Given the description of an element on the screen output the (x, y) to click on. 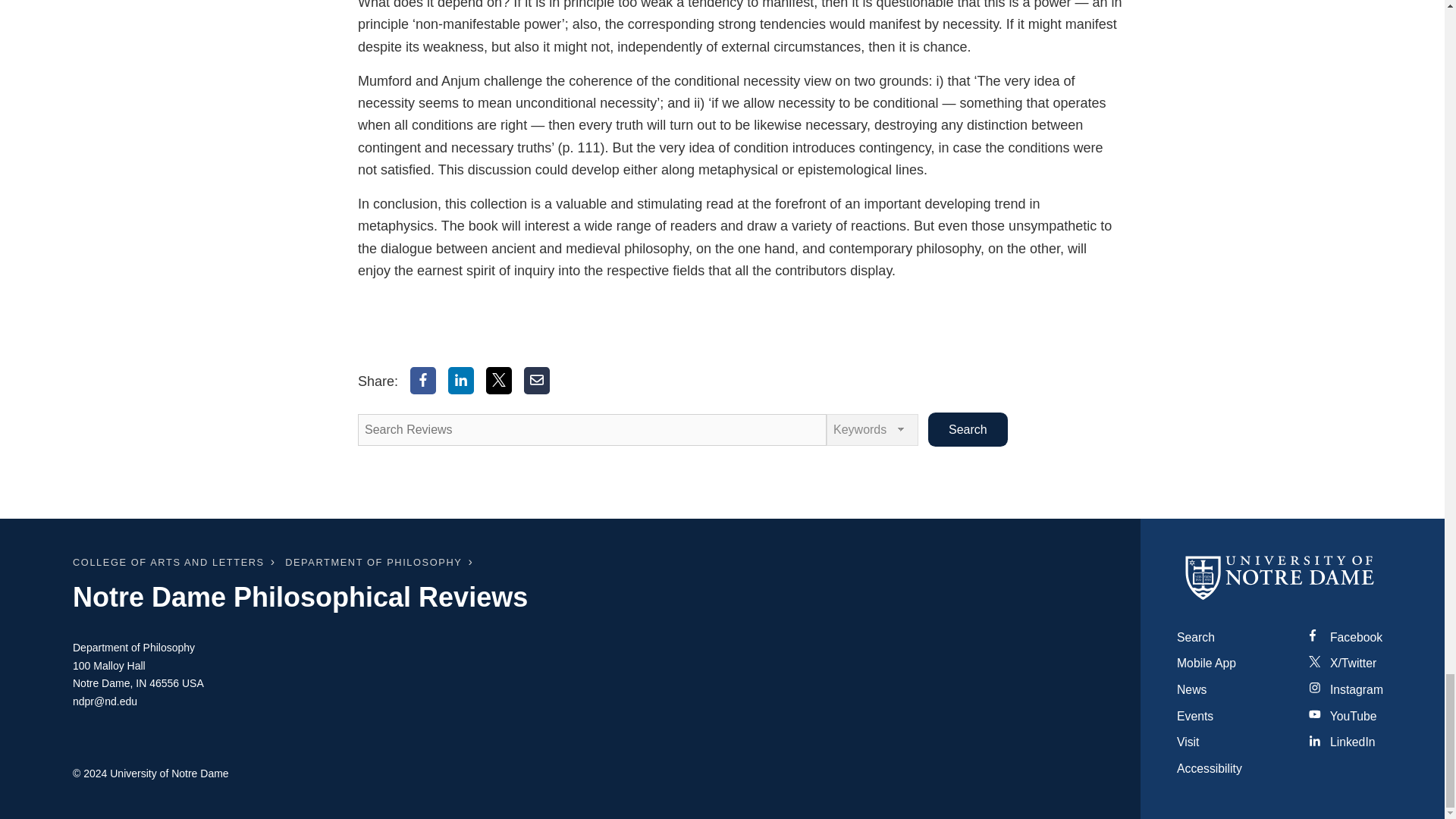
Facebook (422, 379)
Email (537, 379)
Search (967, 428)
LinkedIn (461, 379)
